Given the description of an element on the screen output the (x, y) to click on. 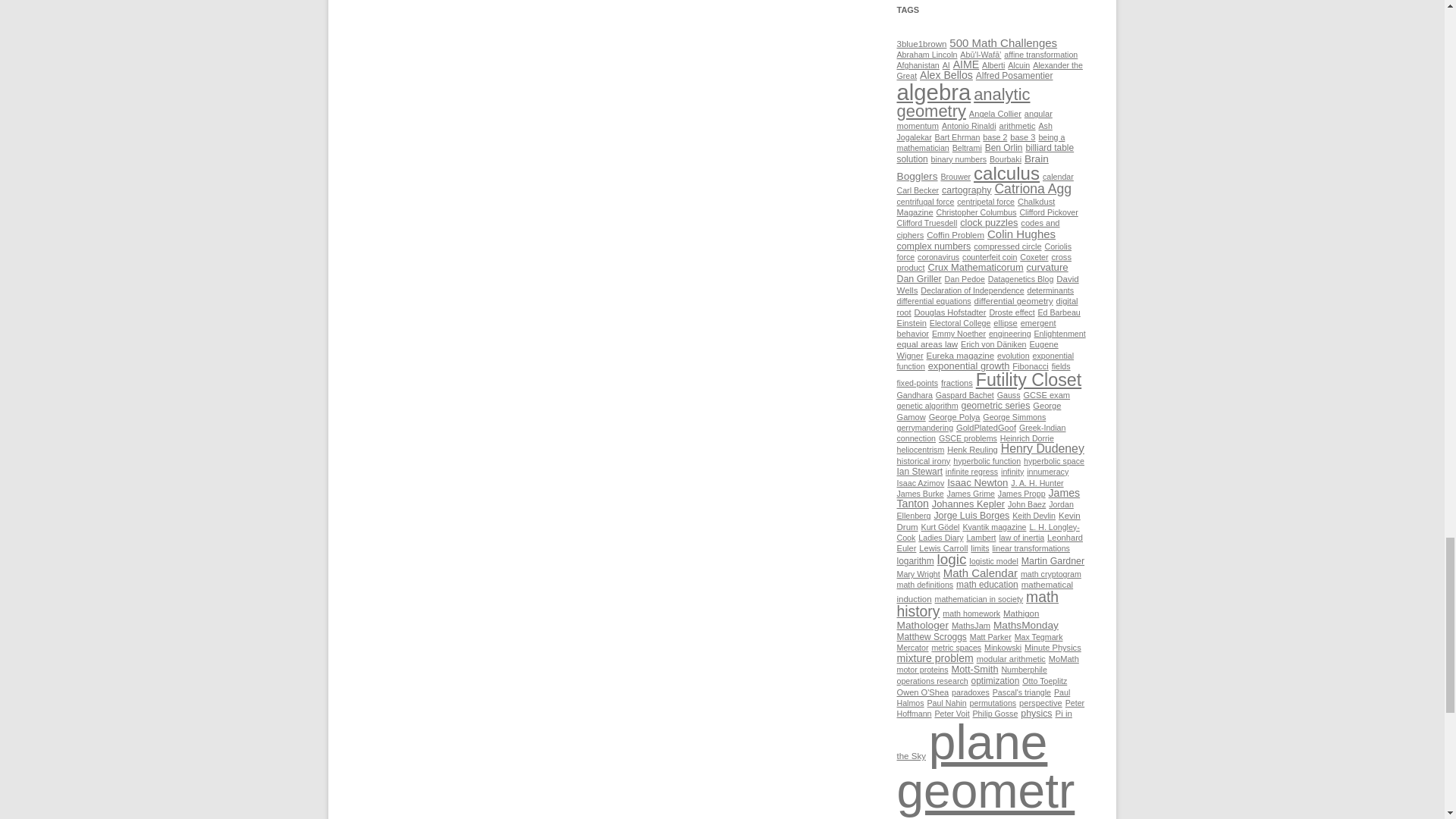
9 topics (946, 74)
3 topics (921, 43)
9 topics (966, 64)
1 topics (1040, 53)
1 topics (1018, 64)
1 topics (988, 70)
1 topics (992, 64)
11 topics (1003, 42)
1 topics (926, 53)
1 topics (917, 64)
